Given the description of an element on the screen output the (x, y) to click on. 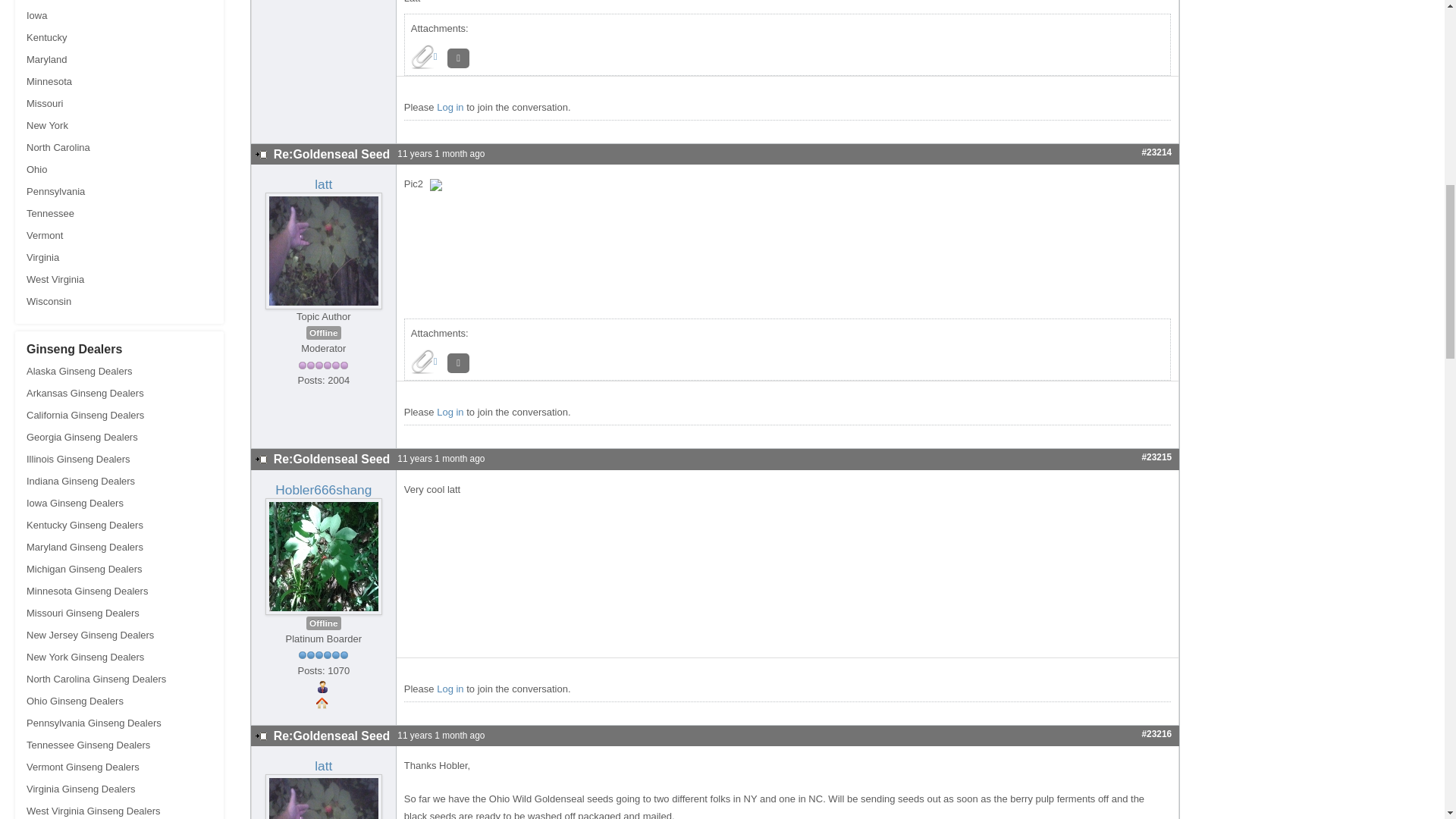
Offline (322, 332)
latt (322, 183)
Log in (449, 107)
View latt's Profile (322, 183)
21 Jul 2013 05:27 (437, 153)
View latt's Profile (322, 250)
